Given the description of an element on the screen output the (x, y) to click on. 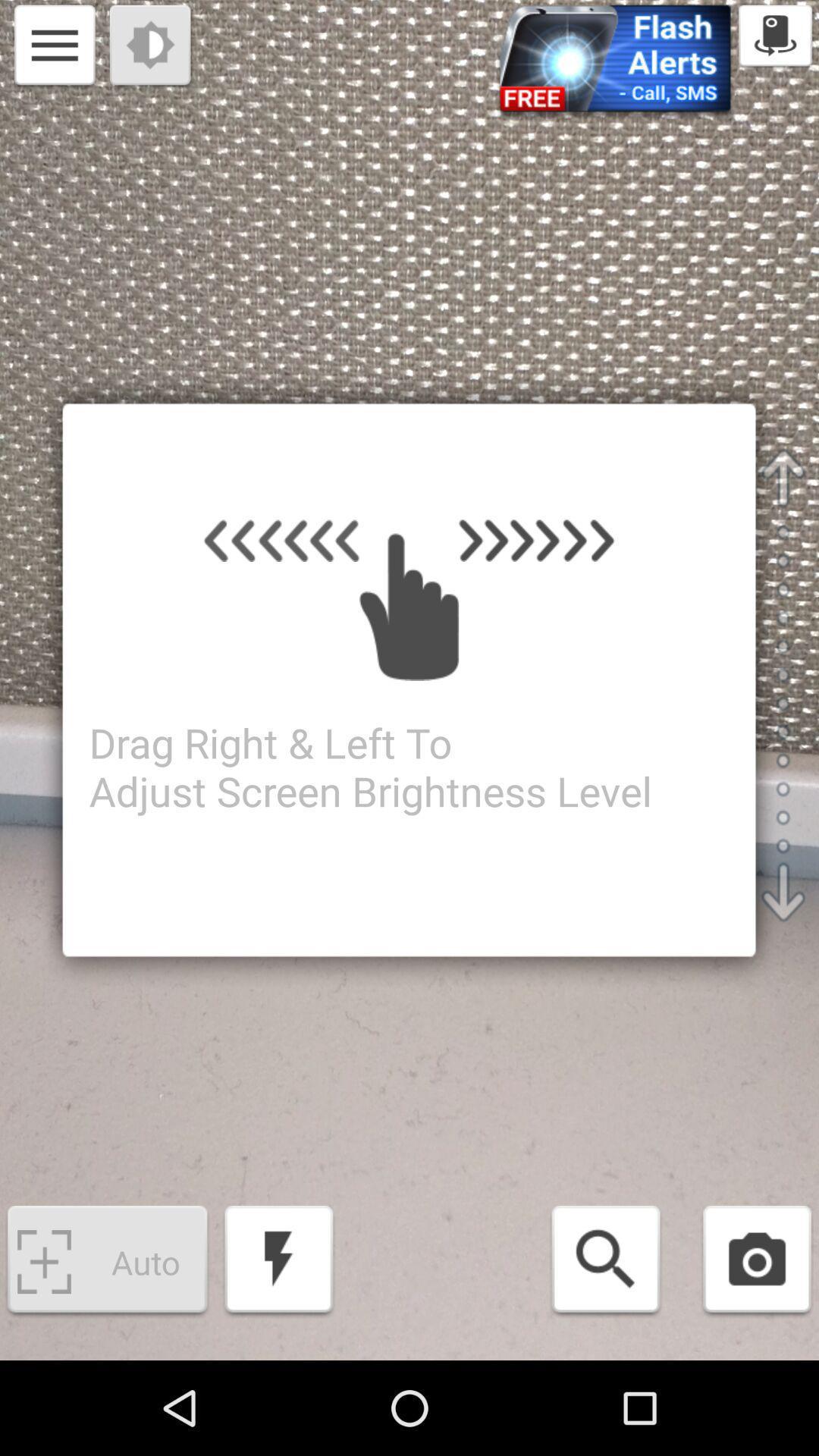
search option (605, 1261)
